Given the description of an element on the screen output the (x, y) to click on. 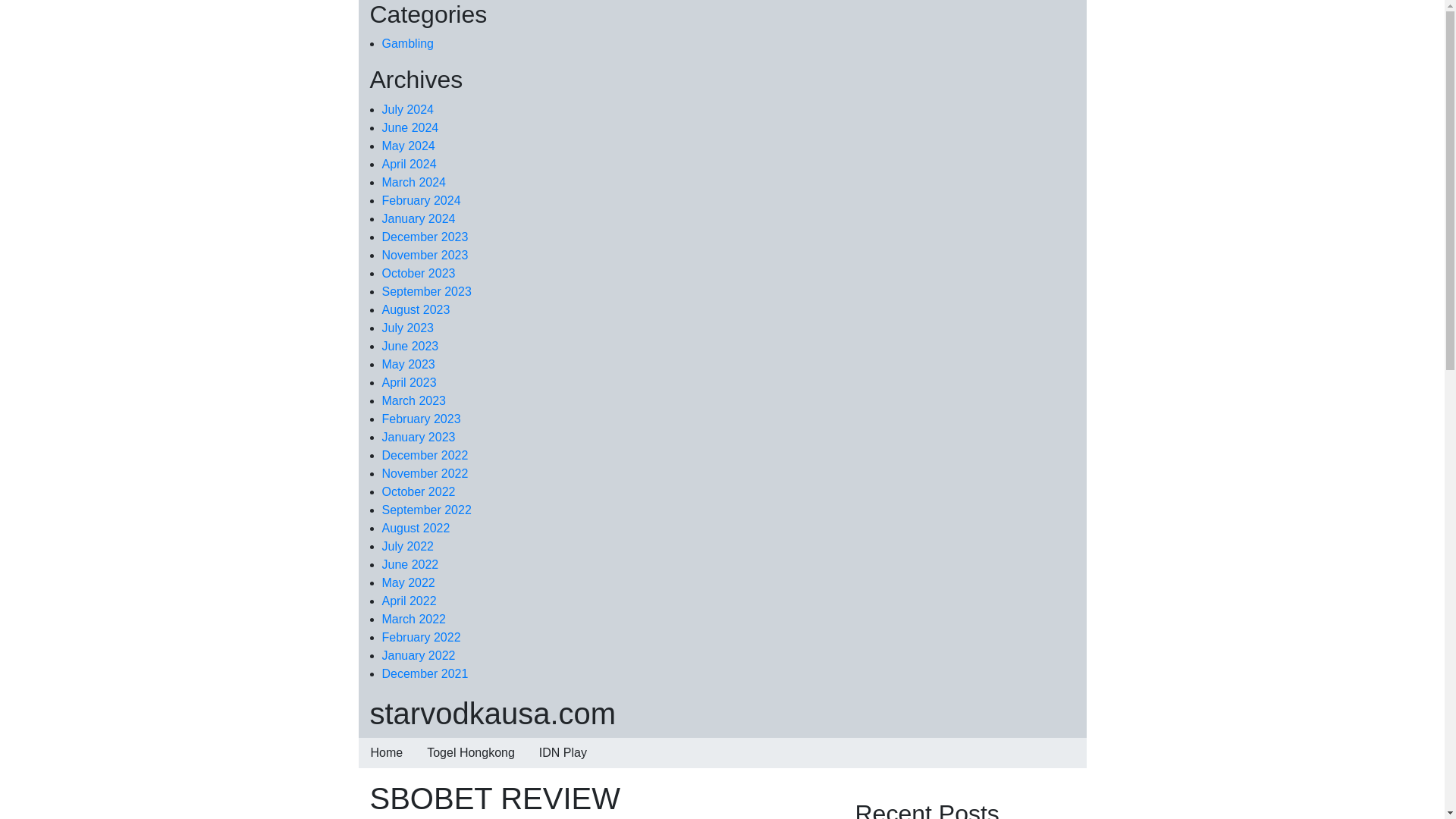
June 2024 (410, 127)
June 2022 (410, 563)
April 2022 (408, 600)
December 2023 (424, 236)
Home (386, 752)
May 2022 (408, 582)
March 2022 (413, 618)
April 2024 (408, 164)
May 2023 (408, 364)
December 2022 (424, 454)
January 2024 (418, 218)
Gambling (407, 42)
July 2024 (407, 109)
May 2024 (408, 145)
July 2022 (407, 545)
